Given the description of an element on the screen output the (x, y) to click on. 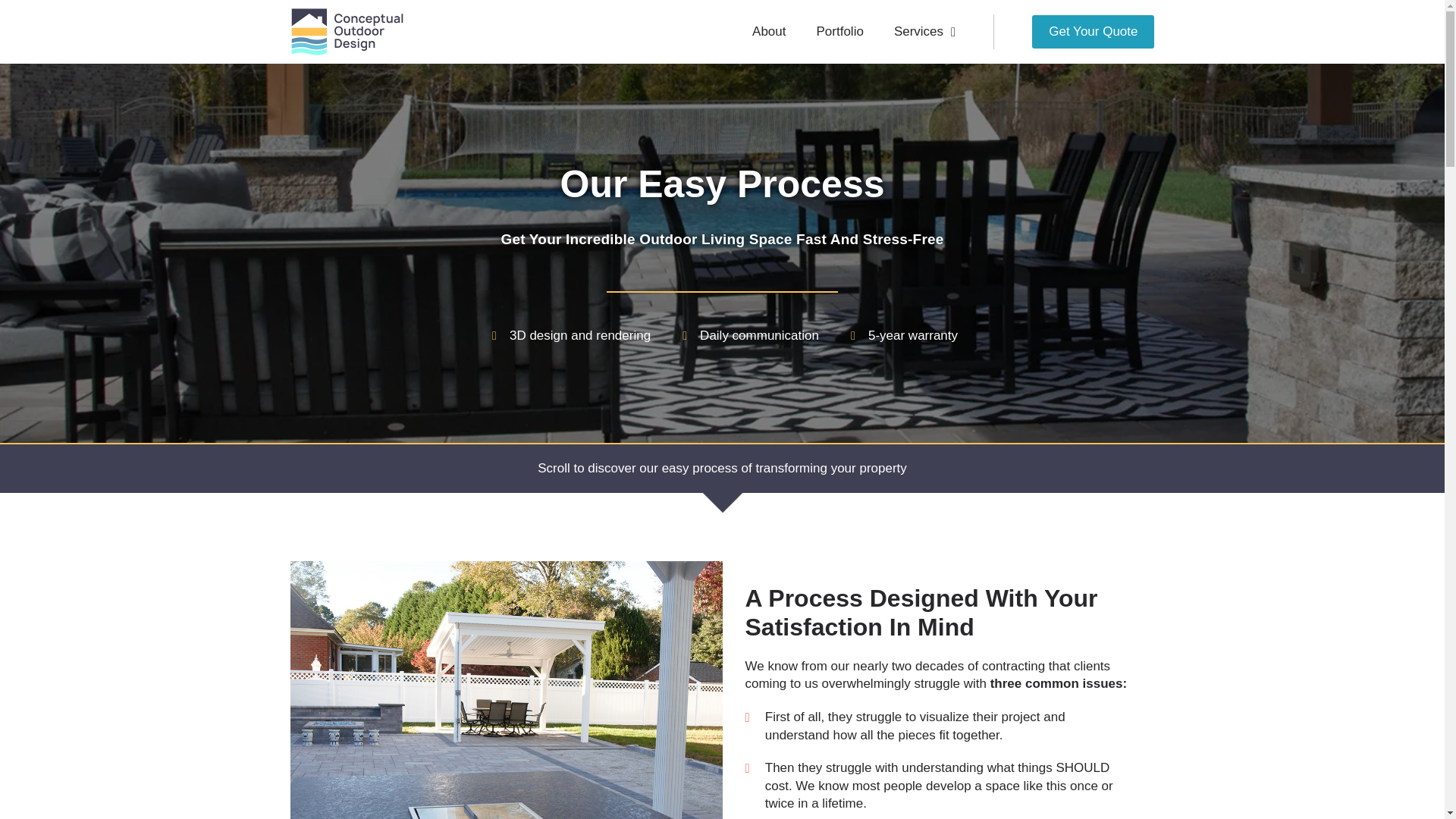
Portfolio (838, 31)
About (768, 31)
Get Your Quote (1093, 31)
Services (925, 31)
